Given the description of an element on the screen output the (x, y) to click on. 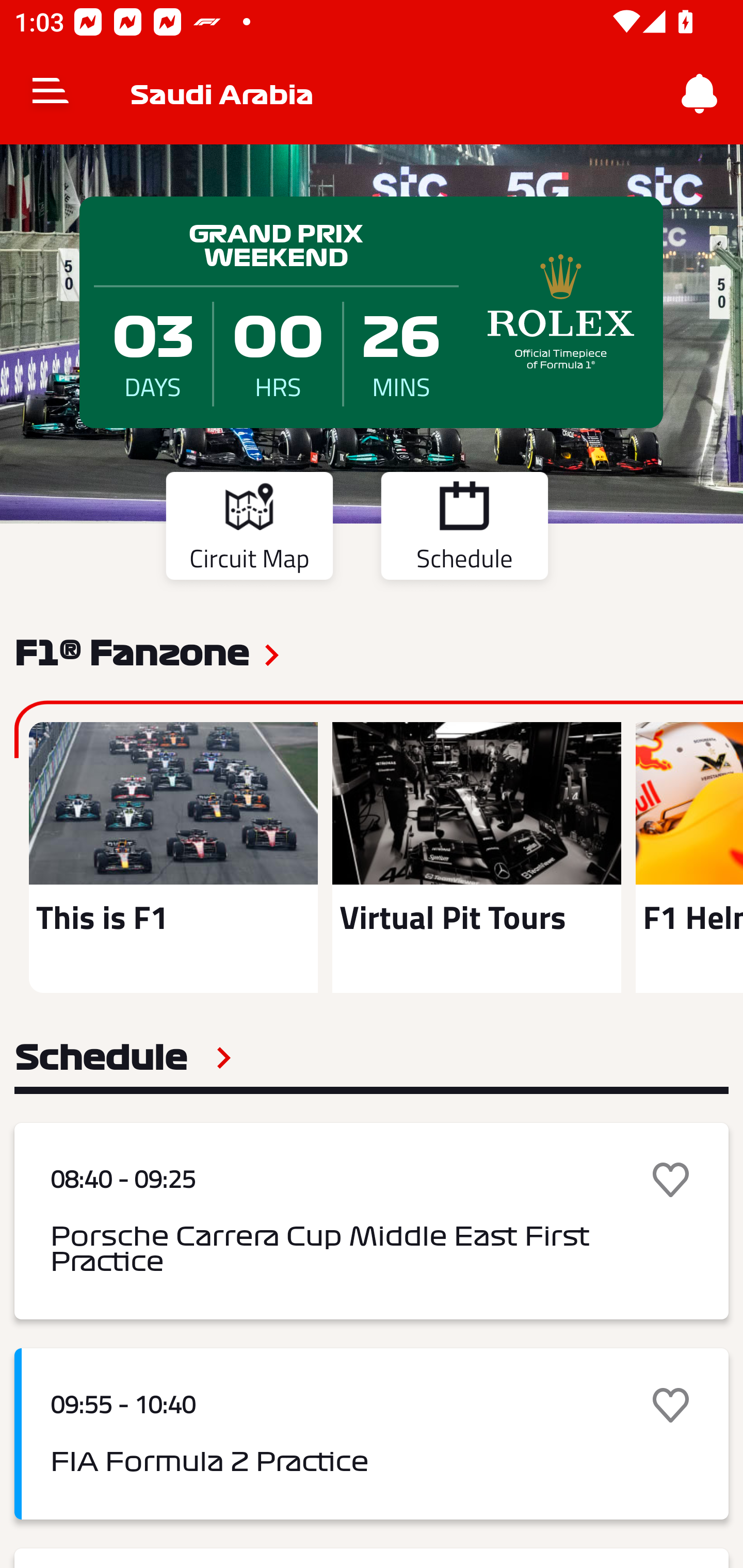
Navigate up (50, 93)
Notifications (699, 93)
Circuit Map (249, 528)
Schedule (464, 528)
F1® Fanzone (131, 651)
This is F1 (173, 857)
Virtual Pit Tours (476, 857)
Schedule (122, 1057)
09:55 - 10:40 FIA Formula 2 Practice (371, 1433)
